Given the description of an element on the screen output the (x, y) to click on. 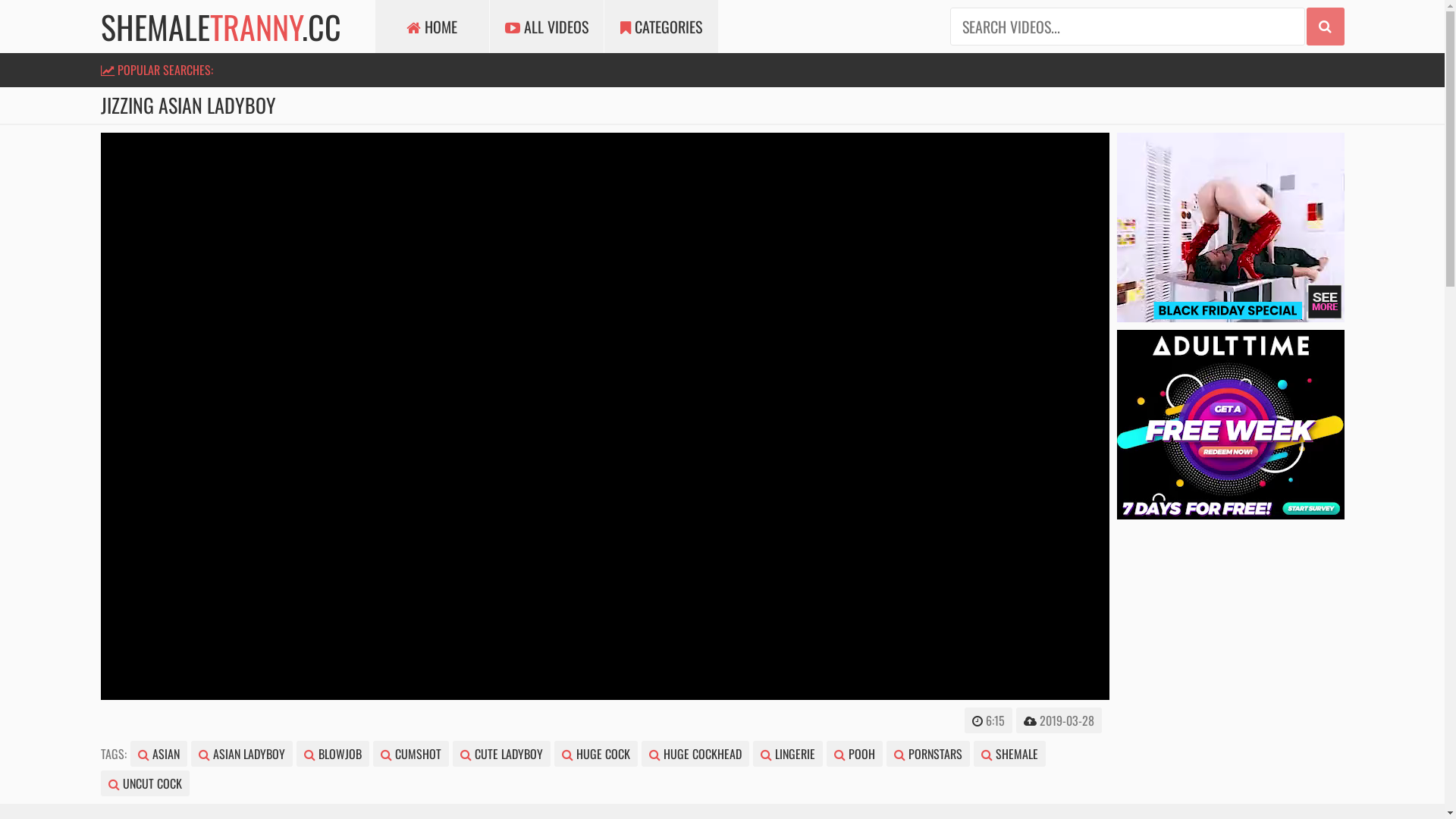
UNCUT COCK Element type: text (144, 783)
CUTE LADYBOY Element type: text (500, 753)
ASIAN Element type: text (158, 753)
ASIAN LADYBOY Element type: text (241, 753)
ALL VIDEOS Element type: text (546, 26)
SHEMALETRANNY.CC Element type: text (220, 26)
HOME Element type: text (431, 26)
POOH Element type: text (854, 753)
PORNSTARS Element type: text (927, 753)
HUGE COCK Element type: text (595, 753)
HUGE COCKHEAD Element type: text (695, 753)
CUMSHOT Element type: text (410, 753)
SHEMALE Element type: text (1009, 753)
BLOWJOB Element type: text (331, 753)
LINGERIE Element type: text (787, 753)
CATEGORIES Element type: text (660, 26)
Find Element type: hover (1324, 26)
